Given the description of an element on the screen output the (x, y) to click on. 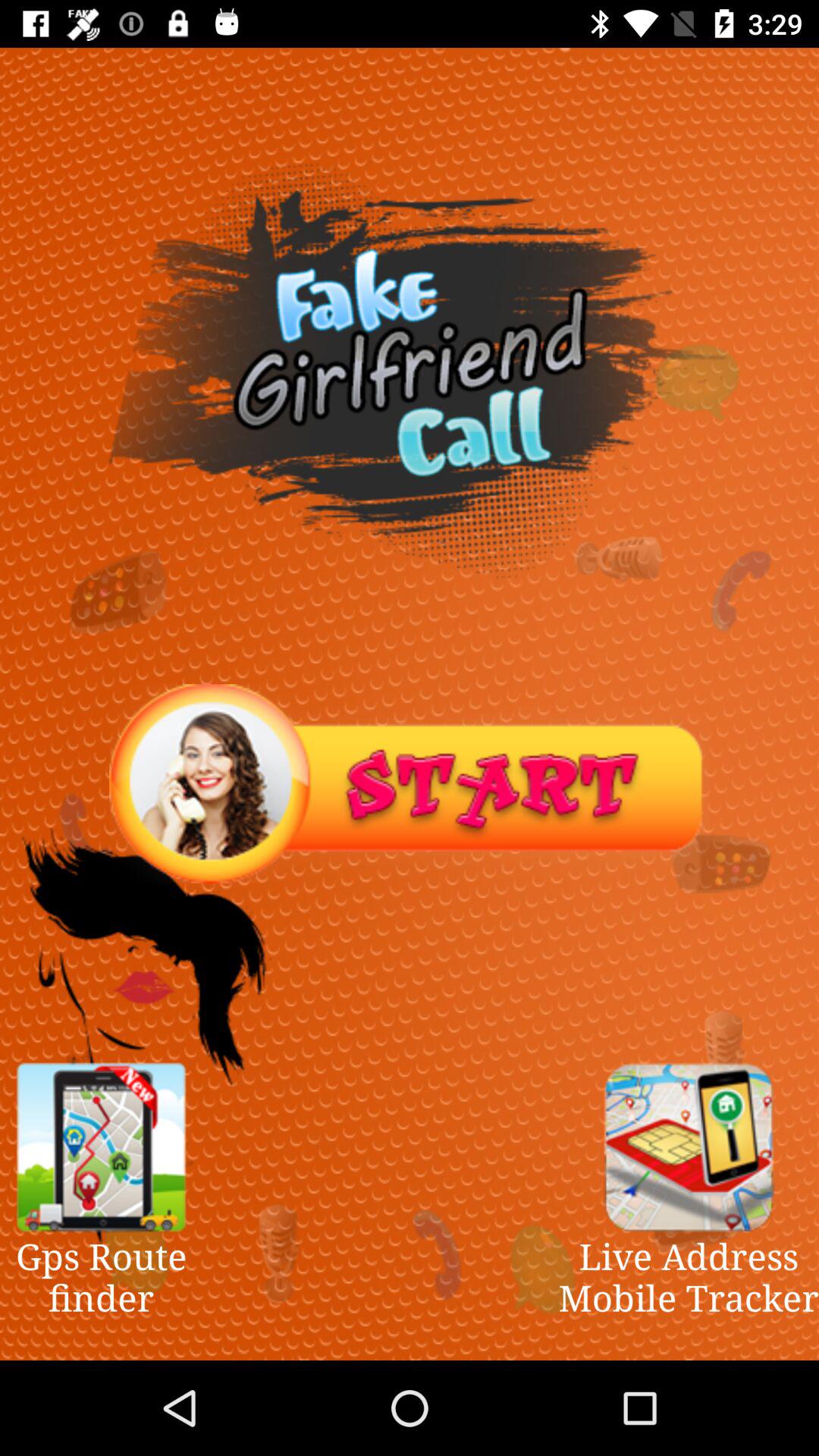
go to gps route finder (100, 1146)
